Given the description of an element on the screen output the (x, y) to click on. 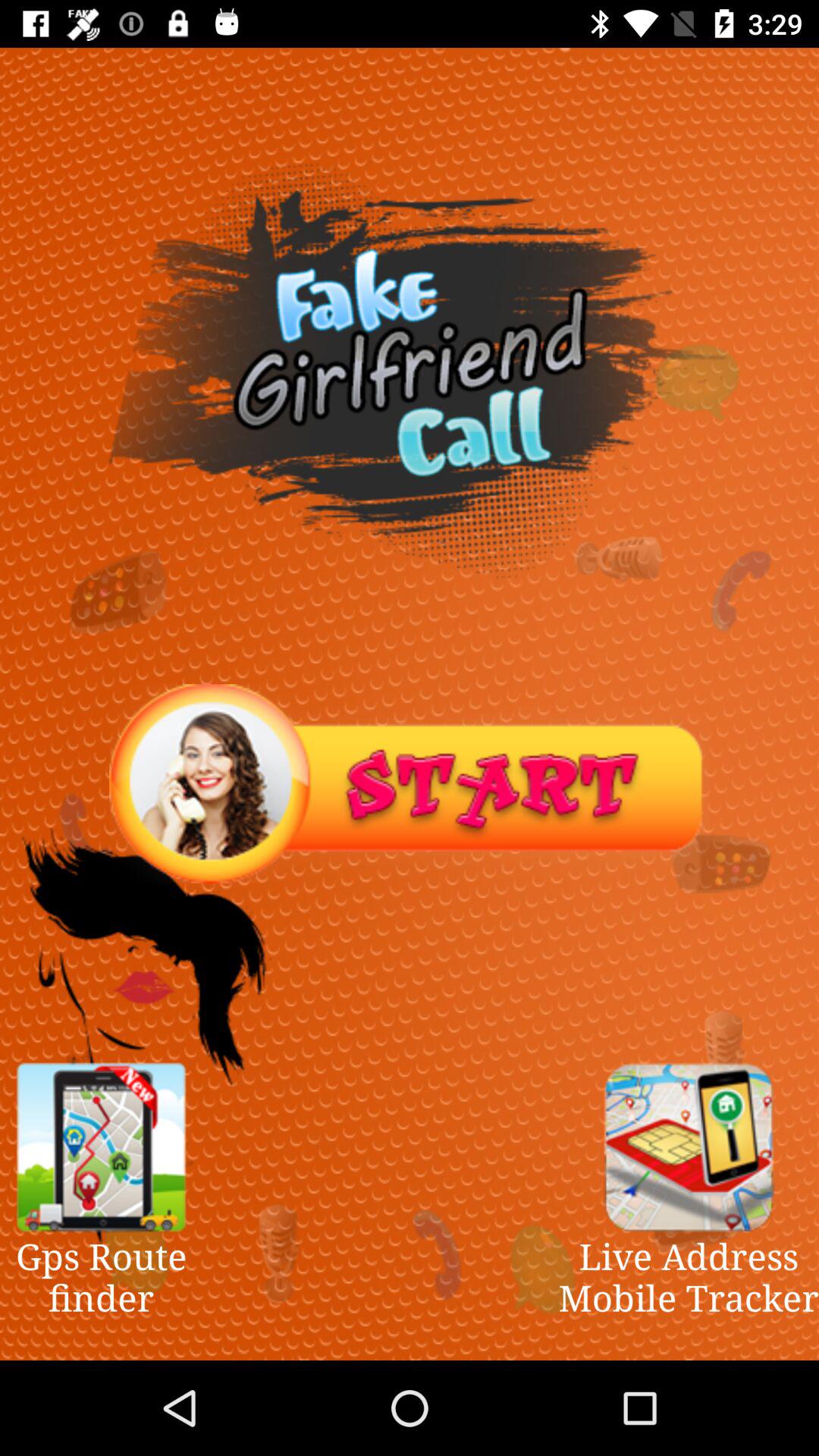
go to gps route finder (100, 1146)
